Given the description of an element on the screen output the (x, y) to click on. 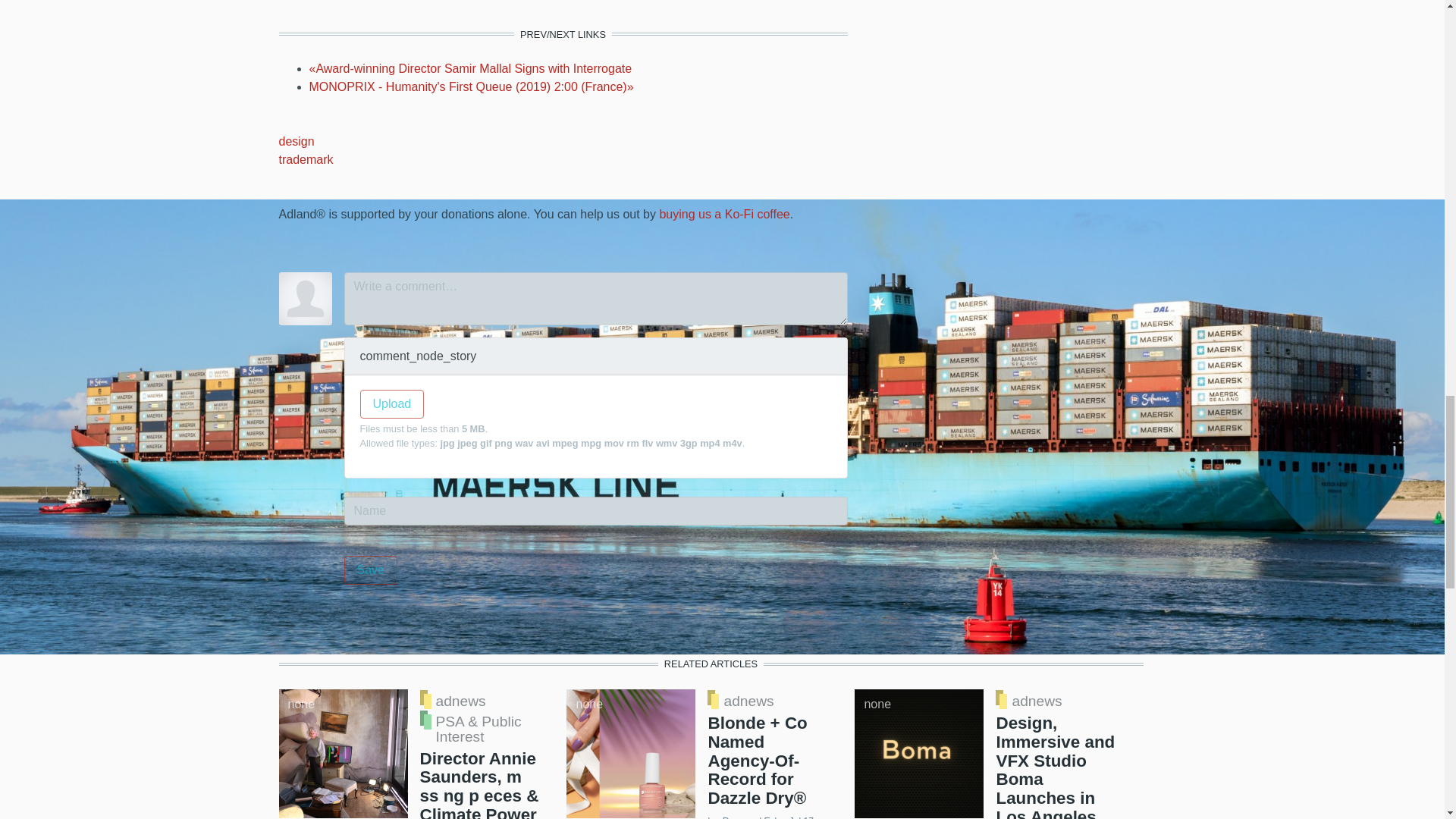
Save (370, 570)
Upload (391, 403)
